Given the description of an element on the screen output the (x, y) to click on. 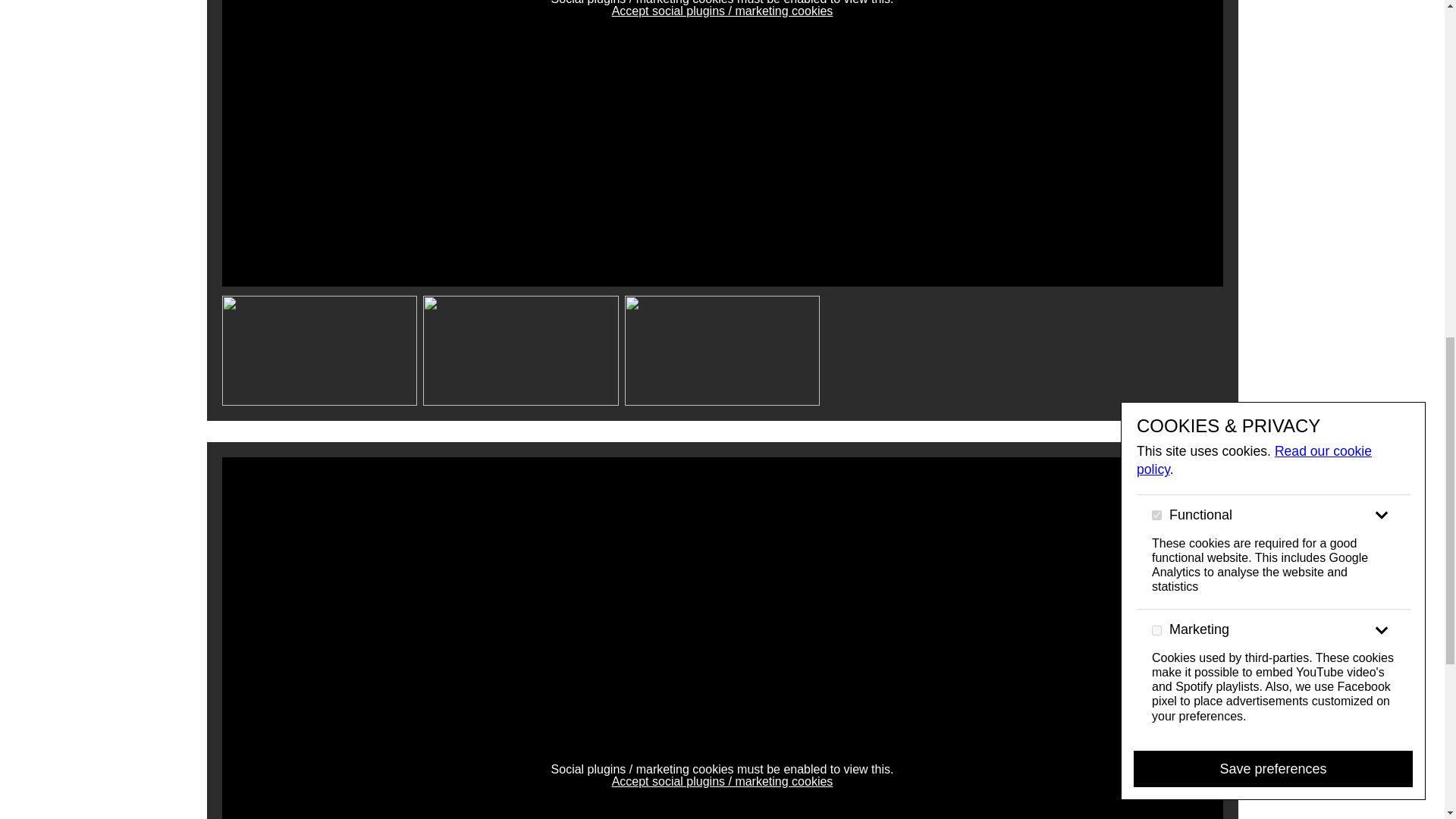
Play video 2 (520, 350)
Play video 1 (318, 350)
Play video 3 (722, 350)
